Given the description of an element on the screen output the (x, y) to click on. 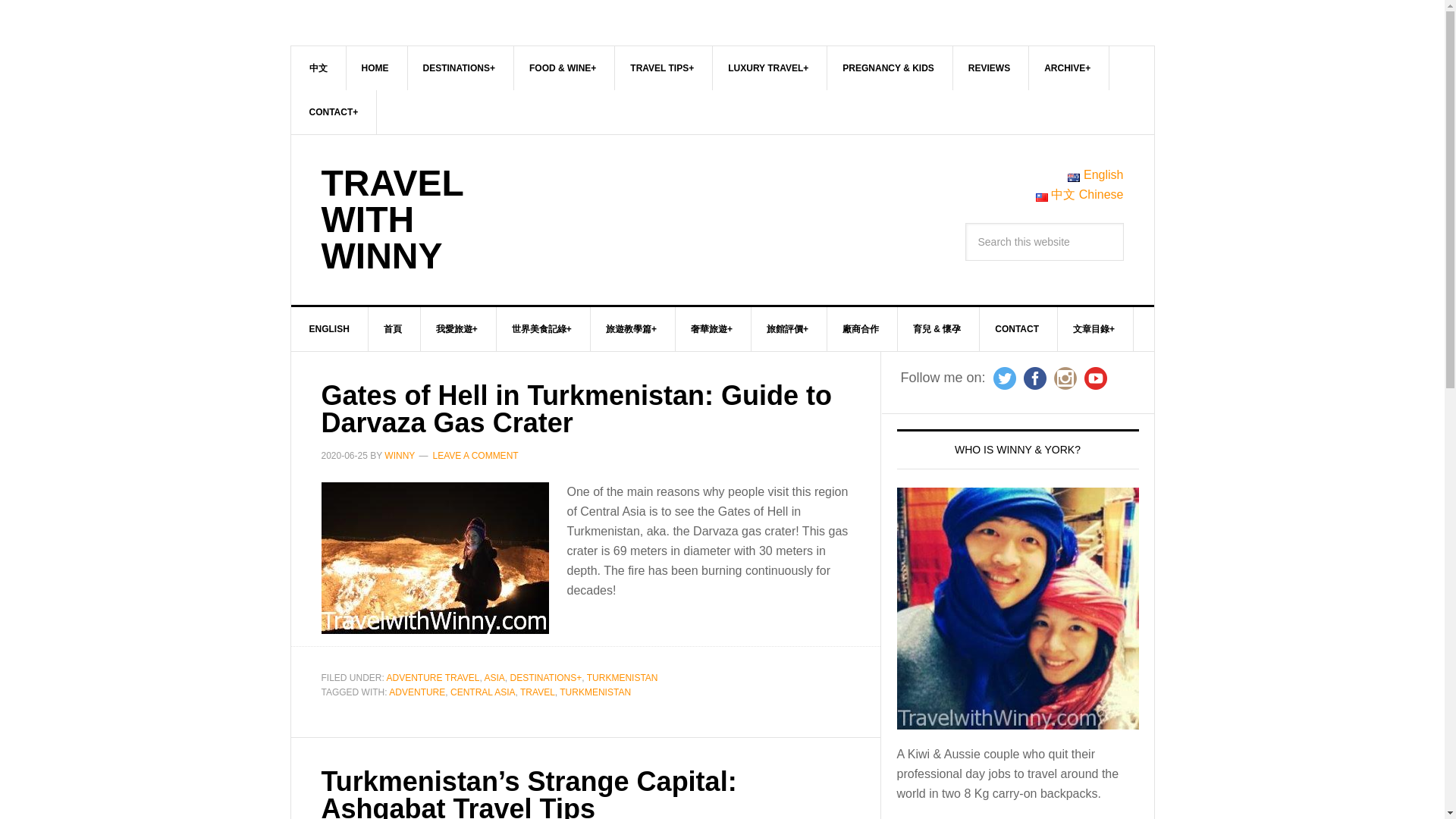
HOME (374, 67)
